Given the description of an element on the screen output the (x, y) to click on. 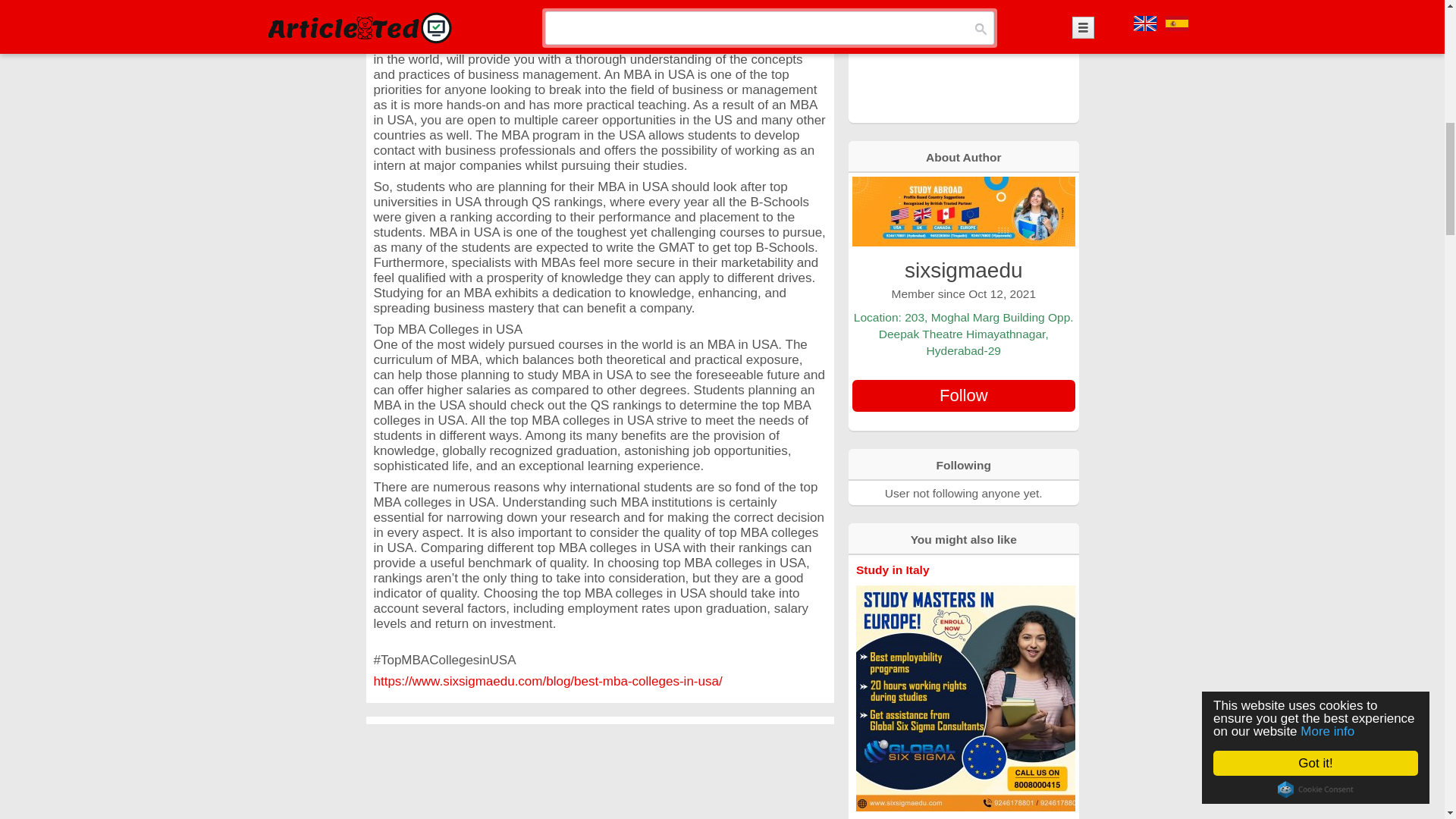
Study in Italy (893, 569)
Advertisement (963, 60)
Follow (963, 395)
